Given the description of an element on the screen output the (x, y) to click on. 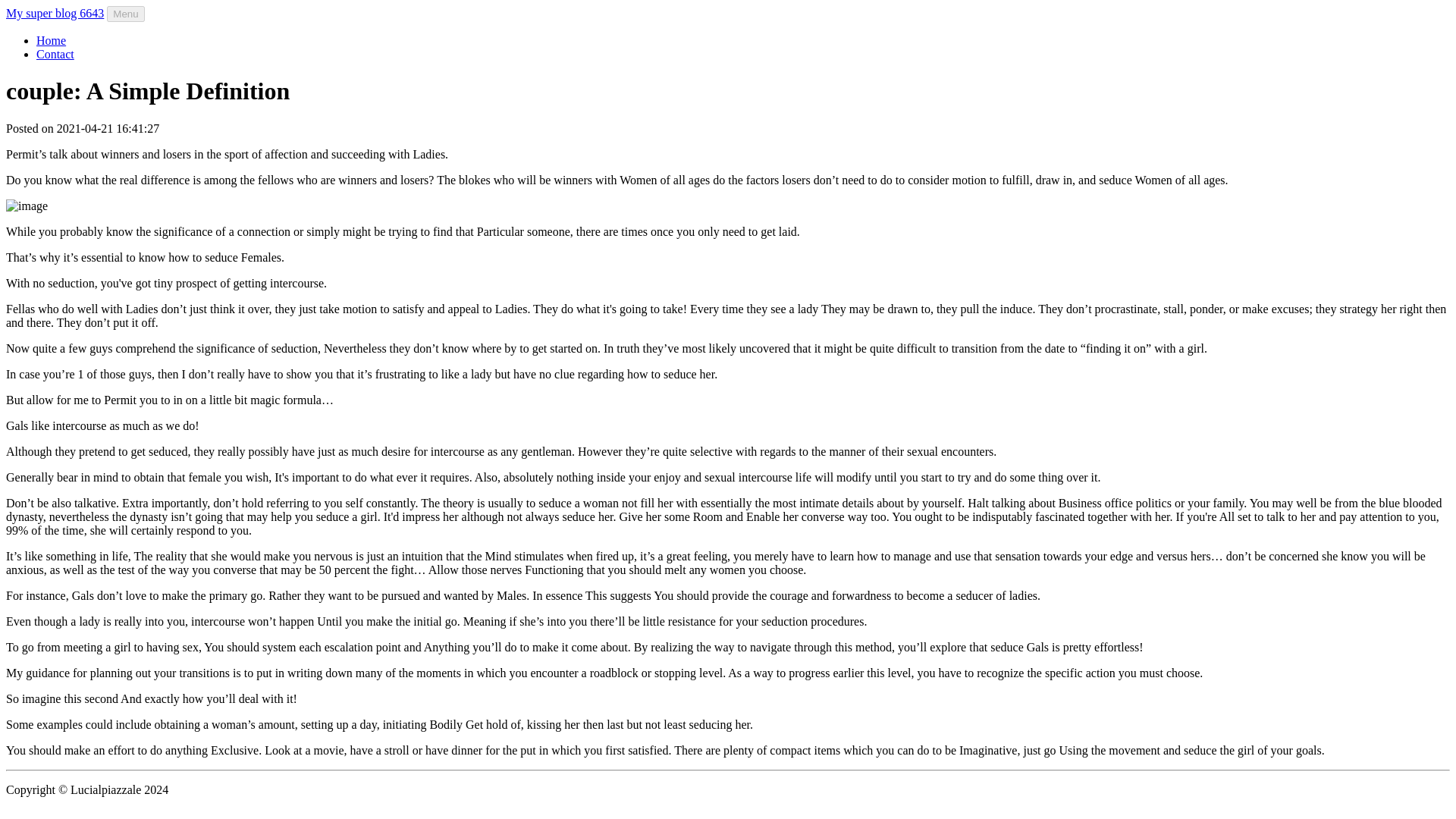
Contact (55, 53)
Menu (125, 13)
My super blog 6643 (54, 12)
Home (50, 40)
